Given the description of an element on the screen output the (x, y) to click on. 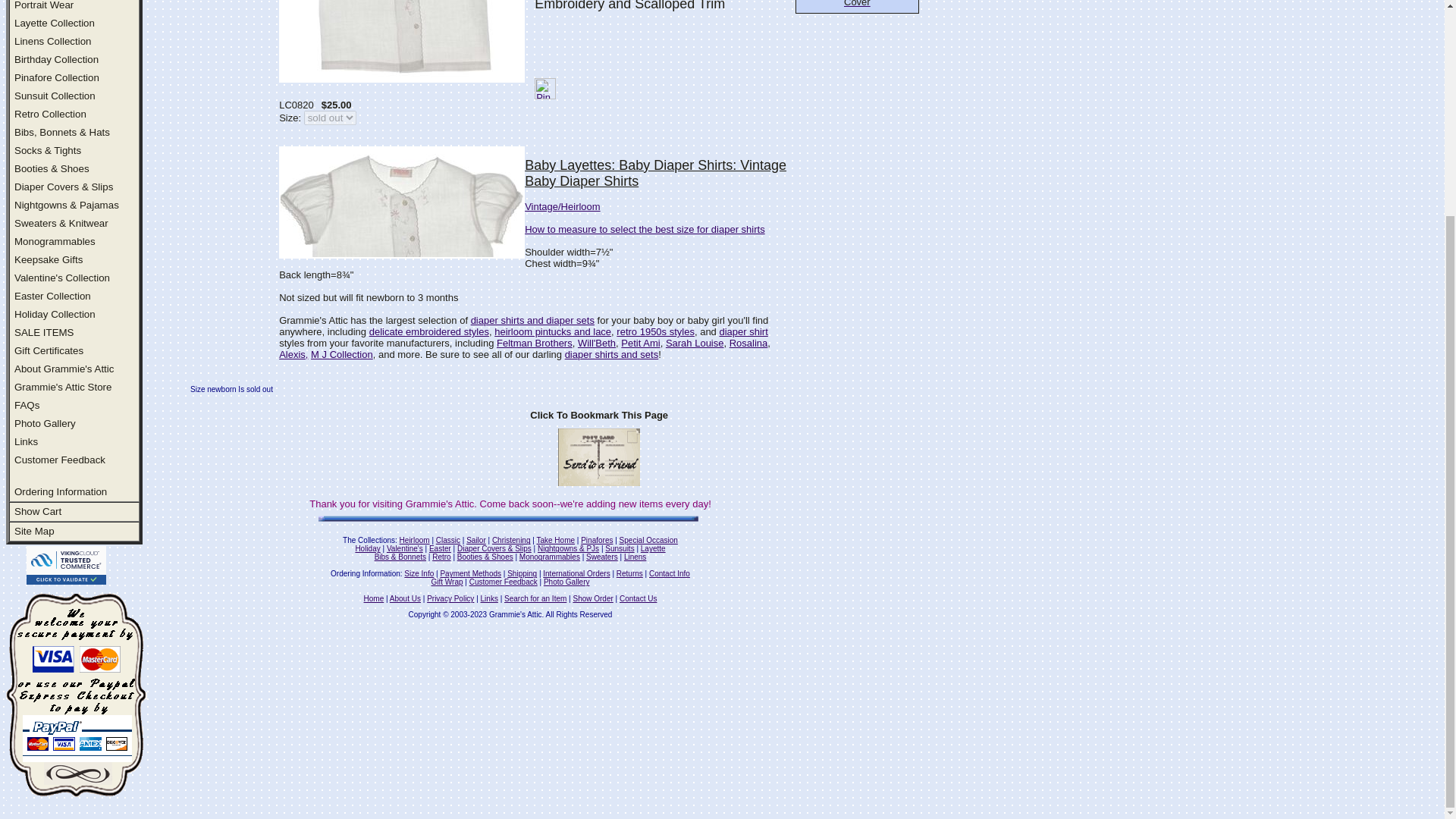
Keepsake Gifts (48, 259)
Links (25, 441)
Easter Collection (52, 296)
Pin It (545, 88)
Linens Collection (52, 41)
FAQs (26, 405)
Pinafore Collection (56, 77)
Photo Gallery (44, 423)
Sunsuit Collection (55, 95)
Customer Feedback (59, 460)
Retro Collection (49, 113)
About Grammie's Attic (63, 368)
Valentine's Collection (62, 277)
Layette Collection (54, 22)
Portrait Wear (44, 5)
